Given the description of an element on the screen output the (x, y) to click on. 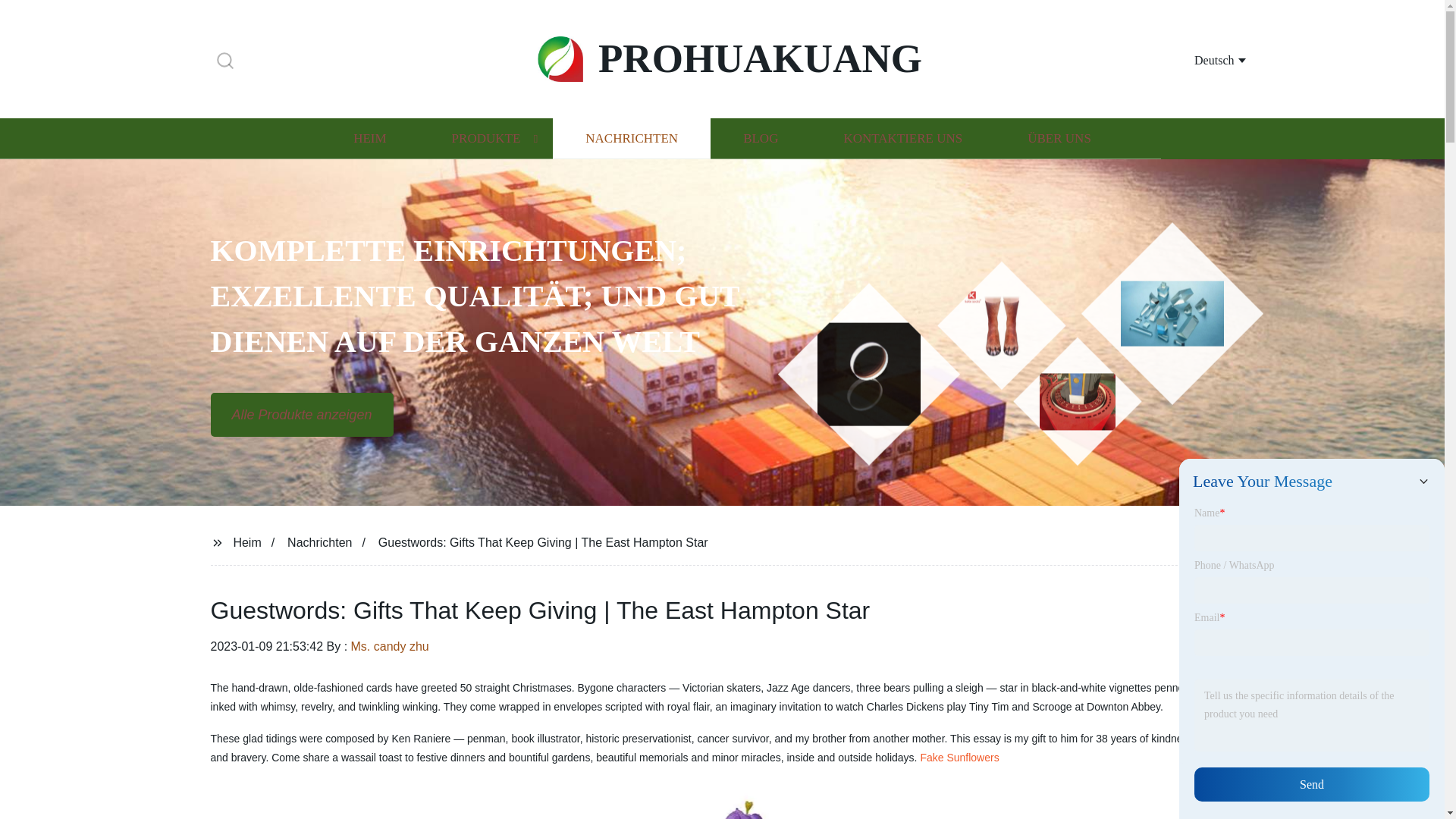
Deutsch (1201, 59)
NACHRICHTEN (631, 137)
HEIM (369, 137)
Nachrichten (319, 541)
Top (1404, 778)
KONTAKTIERE UNS (902, 137)
Deutsch (1201, 59)
BLOG (760, 137)
Heim (246, 541)
PRODUKTE (486, 137)
Fake Sunflowers (959, 757)
